Given the description of an element on the screen output the (x, y) to click on. 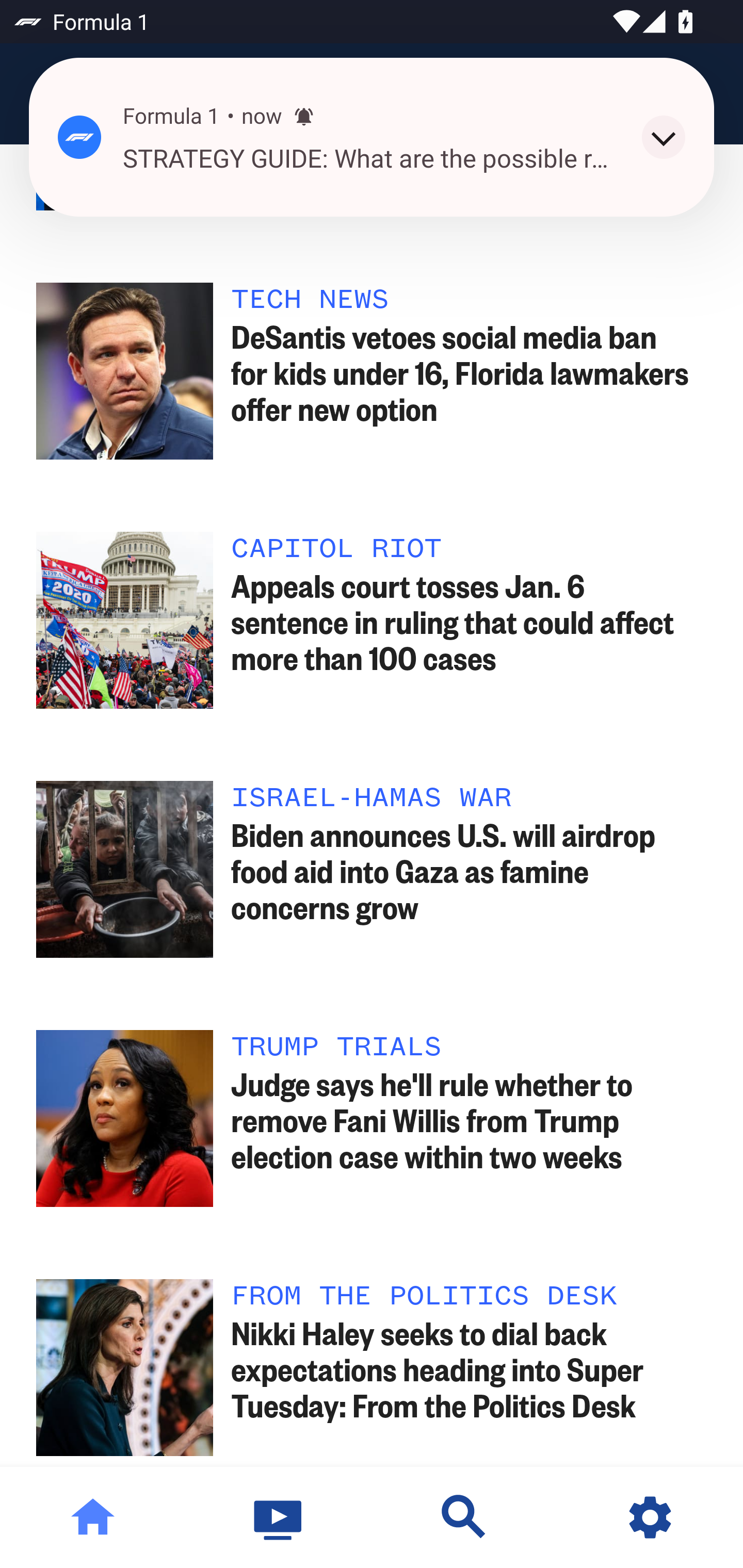
Watch (278, 1517)
Discover (464, 1517)
Settings (650, 1517)
